Given the description of an element on the screen output the (x, y) to click on. 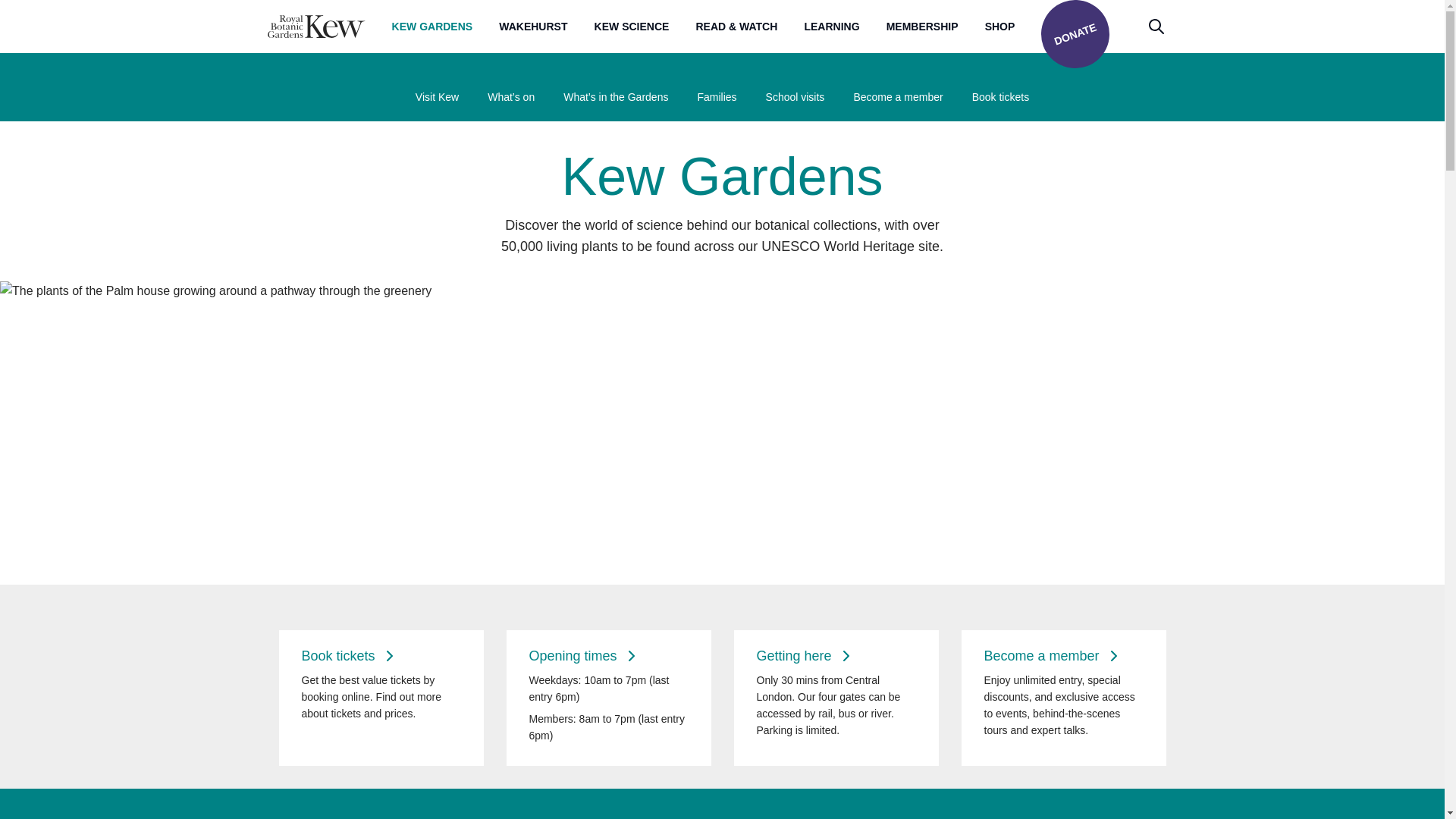
WAKEHURST (533, 26)
Wakehurst (533, 26)
KEW SCIENCE (631, 26)
KEW GARDENS (432, 26)
LEARNING (831, 26)
Kew Science (631, 26)
Kew Gardens (432, 26)
MEMBERSHIP (922, 26)
